Given the description of an element on the screen output the (x, y) to click on. 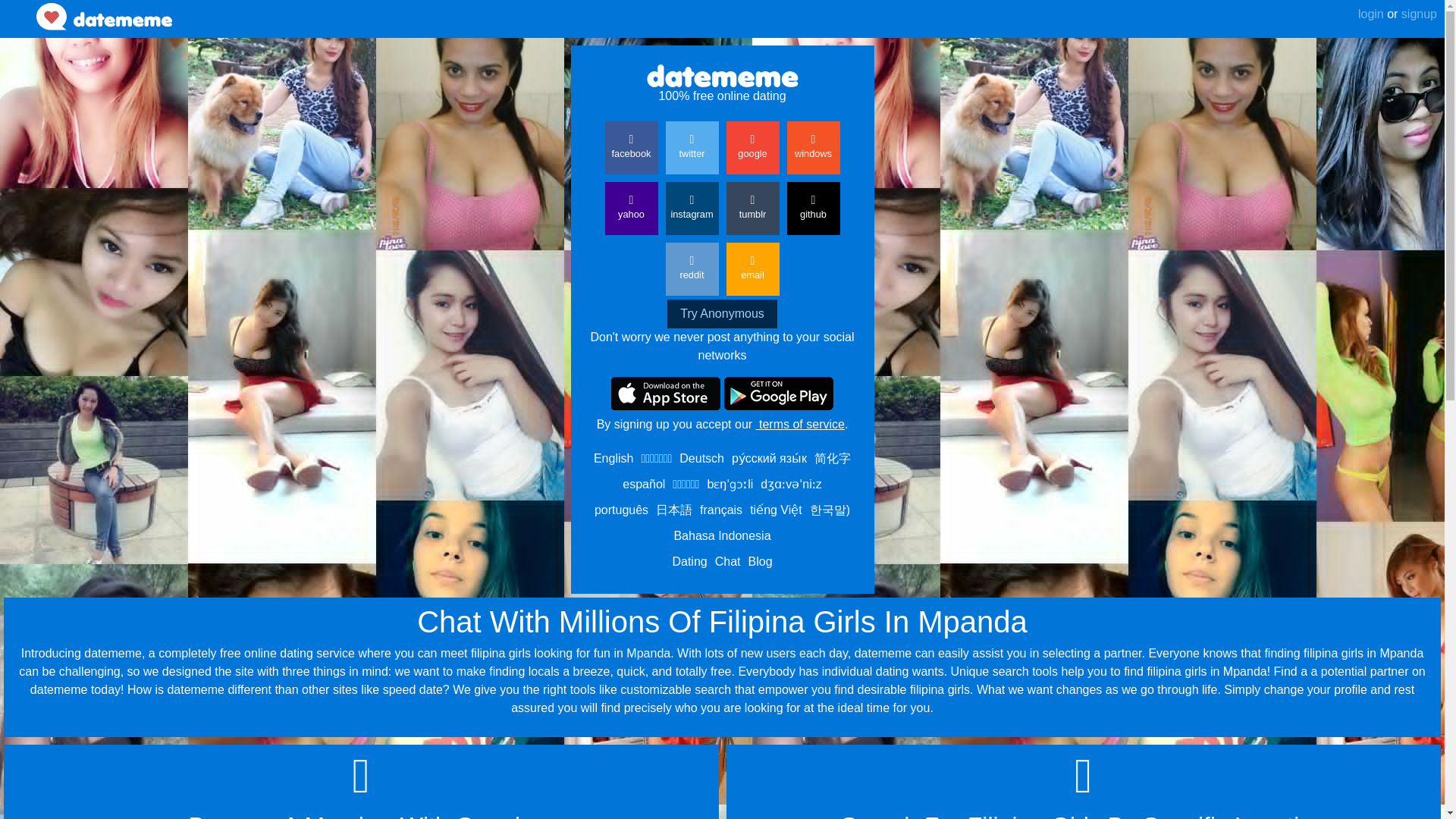
tumblr (752, 208)
twitter (692, 147)
instagram (692, 208)
Deutsch (701, 458)
yahoo (631, 208)
windows (813, 147)
English (613, 458)
home (103, 16)
Dating (688, 561)
 signup (1417, 14)
reddit (692, 268)
login (1371, 14)
github (813, 208)
back (17, 6)
Try Anonymous (721, 313)
